Given the description of an element on the screen output the (x, y) to click on. 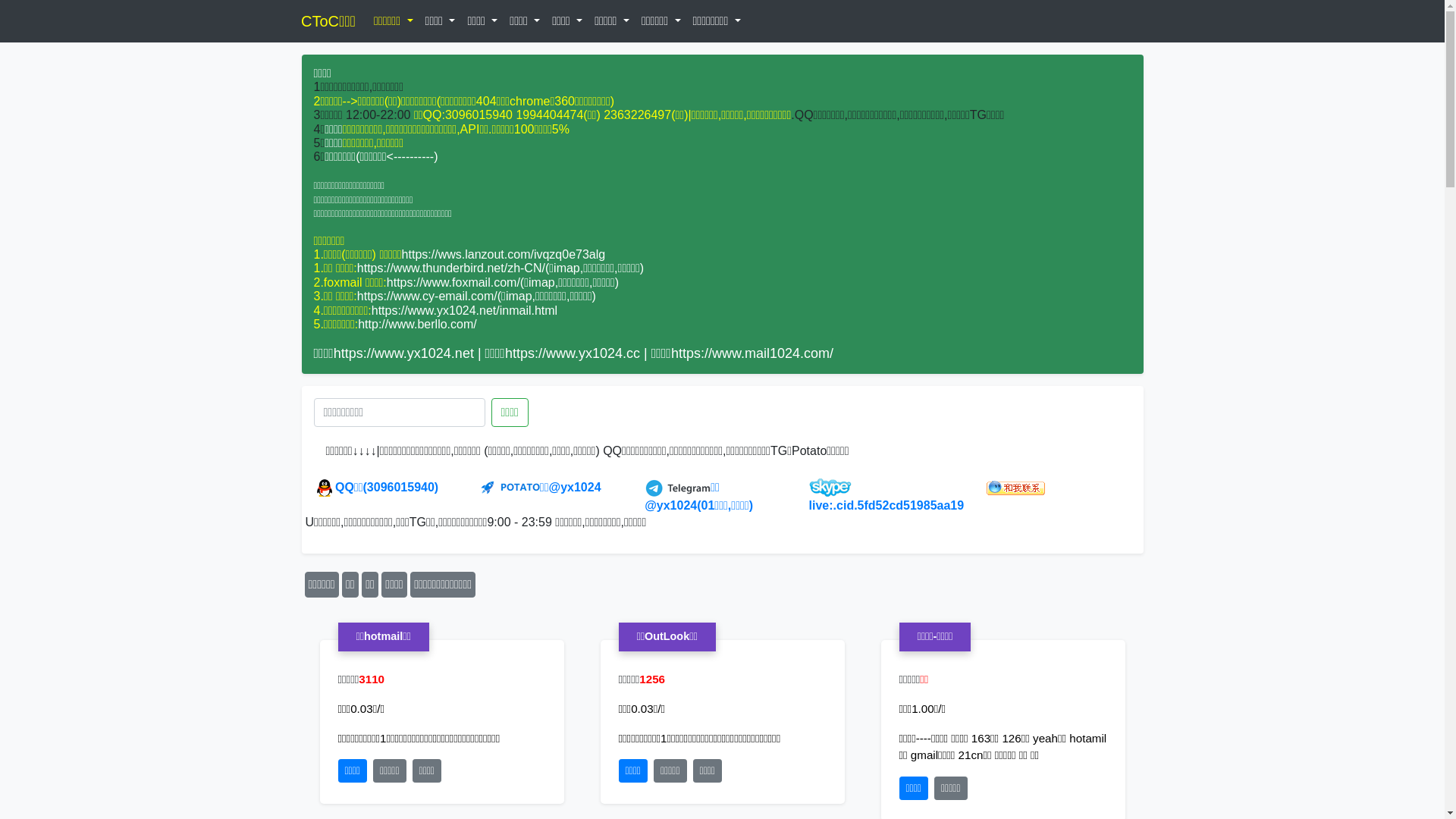
1258 Element type: text (652, 678)
https://wws.lanzout.com/ivqzq0e73alg Element type: text (503, 253)
https://www.yx1024.net/inmail.html Element type: text (464, 310)
live:.cid.5fd52cd51985aa19 Element type: text (886, 496)
http://www.berllo.com/ Element type: text (416, 323)
https://www.yx1024.net Element type: text (403, 352)
  Element type: text (326, 21)
https://www.mail1024.com/ Element type: text (752, 352)
https://www.yx1024.cc Element type: text (572, 352)
3125 Element type: text (371, 678)
